Given the description of an element on the screen output the (x, y) to click on. 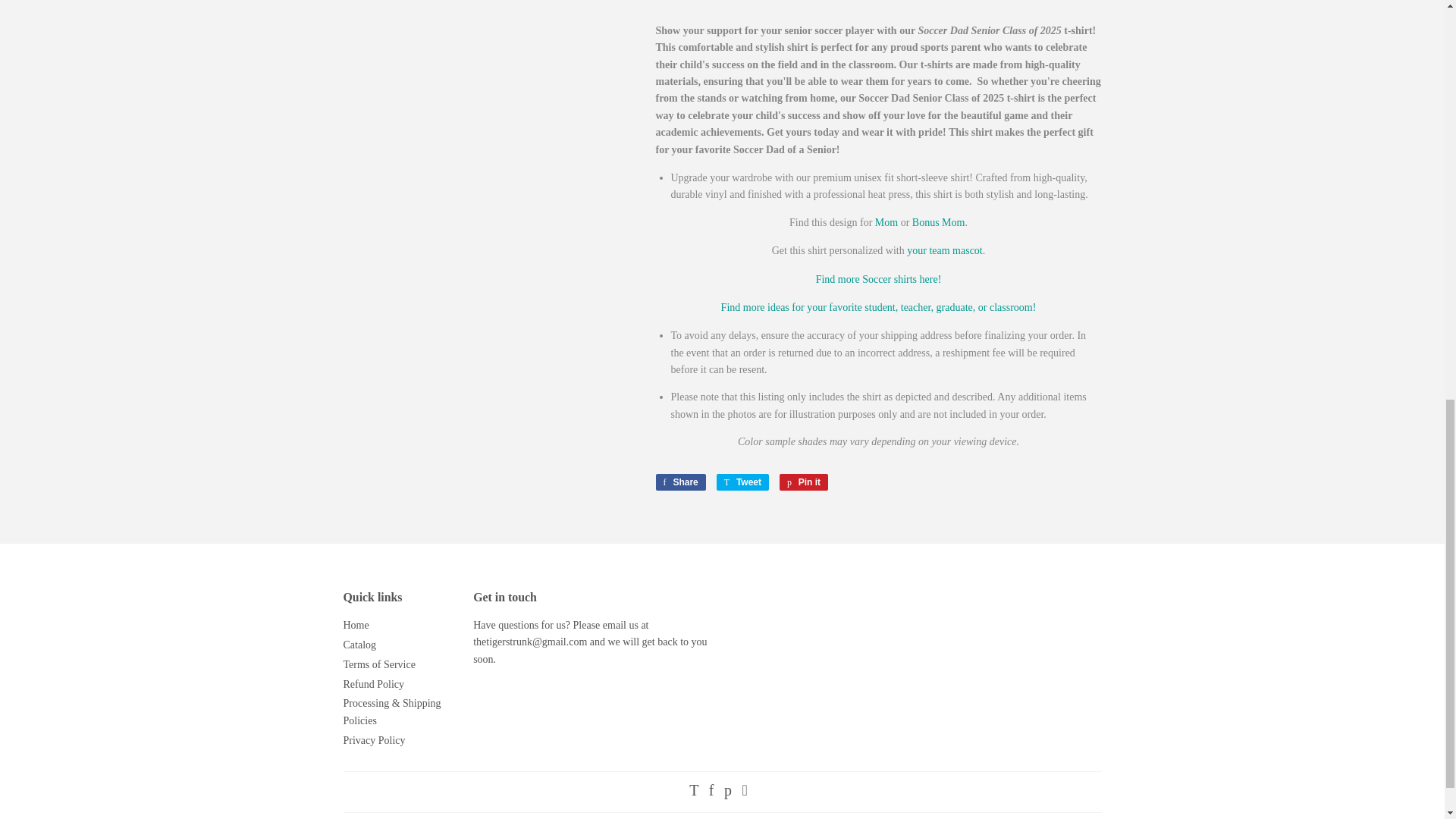
Tweet on Twitter (742, 482)
Pin on Pinterest (803, 482)
Share on Facebook (679, 482)
Soccer Mom of a Senior 2024 short-sleeve shirt (886, 222)
School Supplies (878, 307)
Soccer (878, 278)
